Given the description of an element on the screen output the (x, y) to click on. 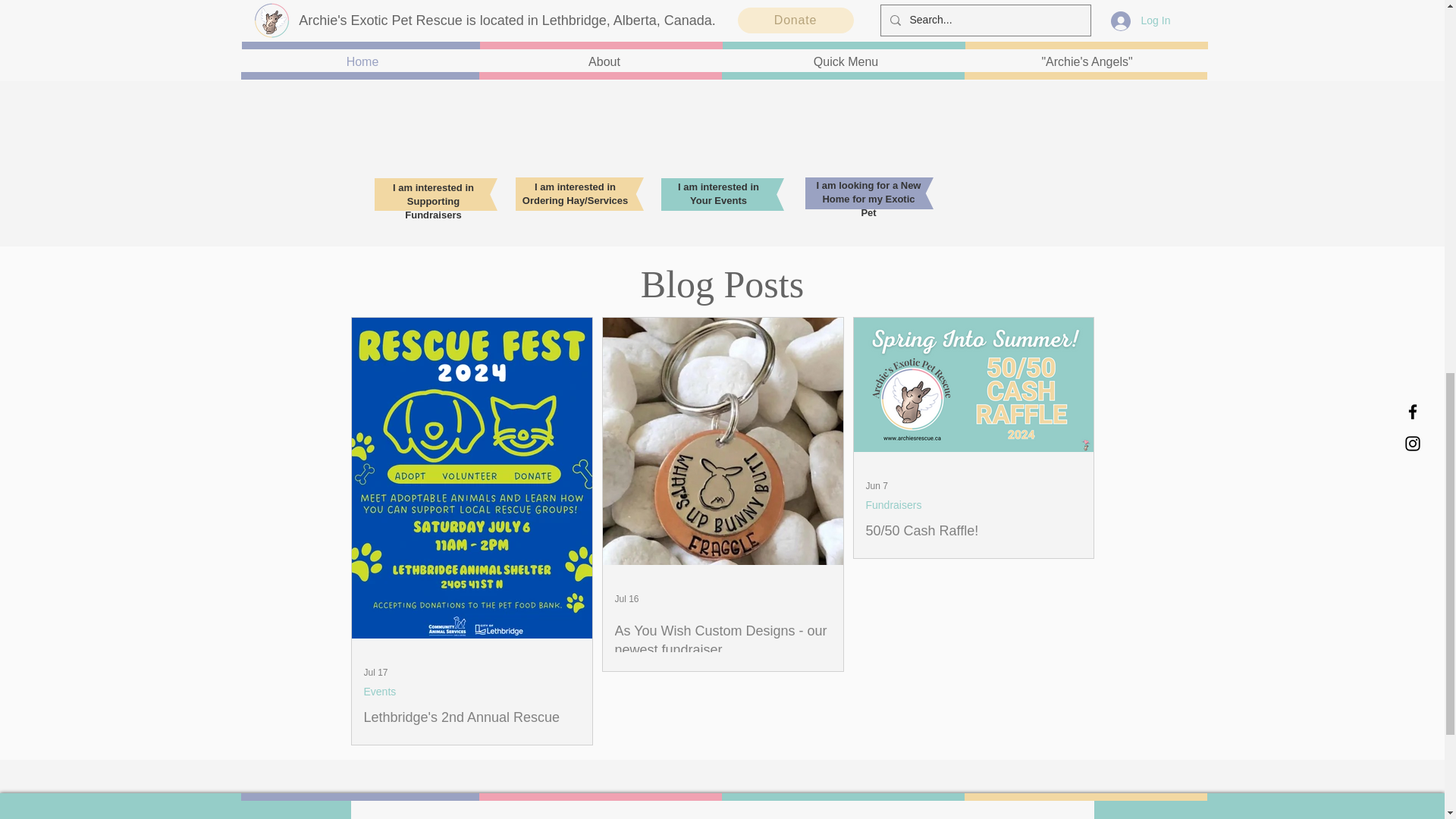
Lethbridge's 2nd Annual Rescue Fest (471, 727)
Events (380, 691)
Jul 17 (376, 672)
Jul 16 (626, 598)
As You Wish Custom Designs - our newest fundraiser (721, 640)
Jun 7 (877, 485)
